Given the description of an element on the screen output the (x, y) to click on. 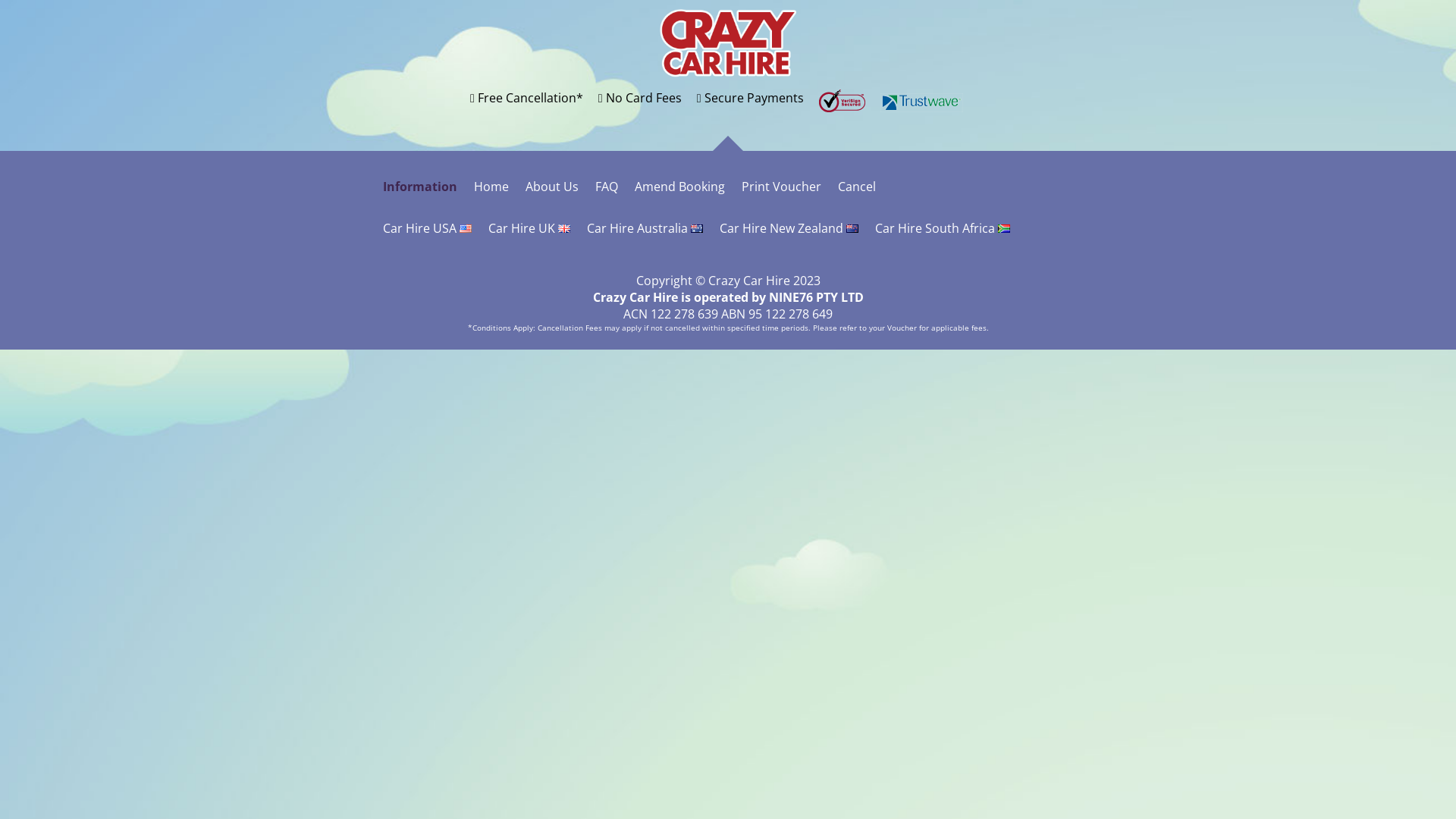
Home Element type: text (490, 186)
FAQ Element type: text (606, 186)
Car Hire South Africa Element type: text (942, 227)
About Us Element type: text (551, 186)
Car Hire UK Element type: text (529, 227)
Car Hire Australia Element type: text (644, 227)
Car Hire USA Element type: text (426, 227)
Car Hire New Zealand Element type: text (788, 227)
Print Voucher Element type: text (781, 186)
Amend Booking Element type: text (679, 186)
Cancel Element type: text (856, 186)
